Given the description of an element on the screen output the (x, y) to click on. 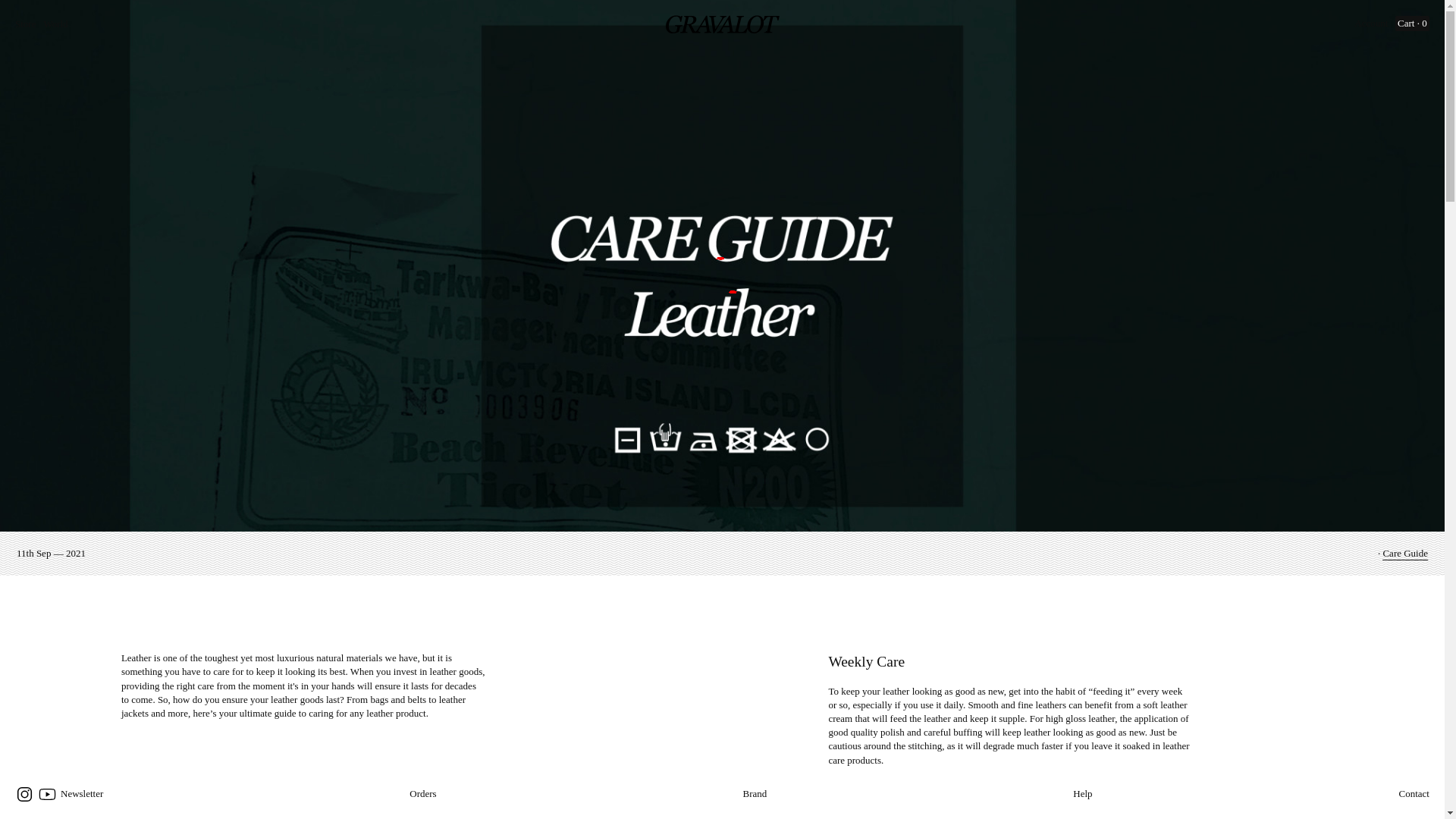
Newsletter (82, 793)
Care Guide (1404, 553)
Help (1082, 793)
Instagram (23, 793)
Account (1370, 23)
Orders (422, 793)
Contact (1414, 793)
Brand (754, 793)
Store (24, 24)
Youtube (46, 793)
World (54, 24)
